Given the description of an element on the screen output the (x, y) to click on. 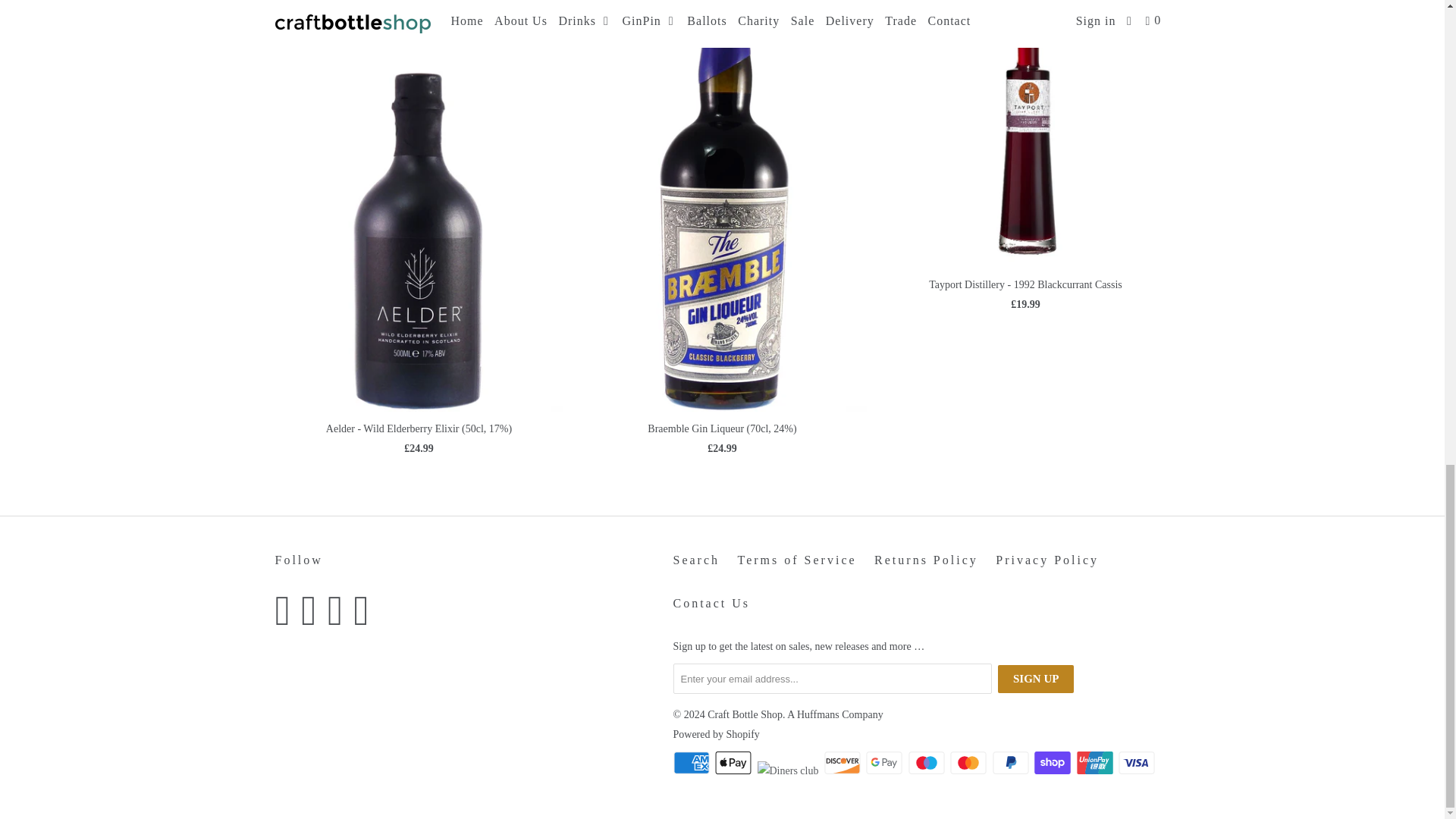
Sign Up (1035, 678)
